Given the description of an element on the screen output the (x, y) to click on. 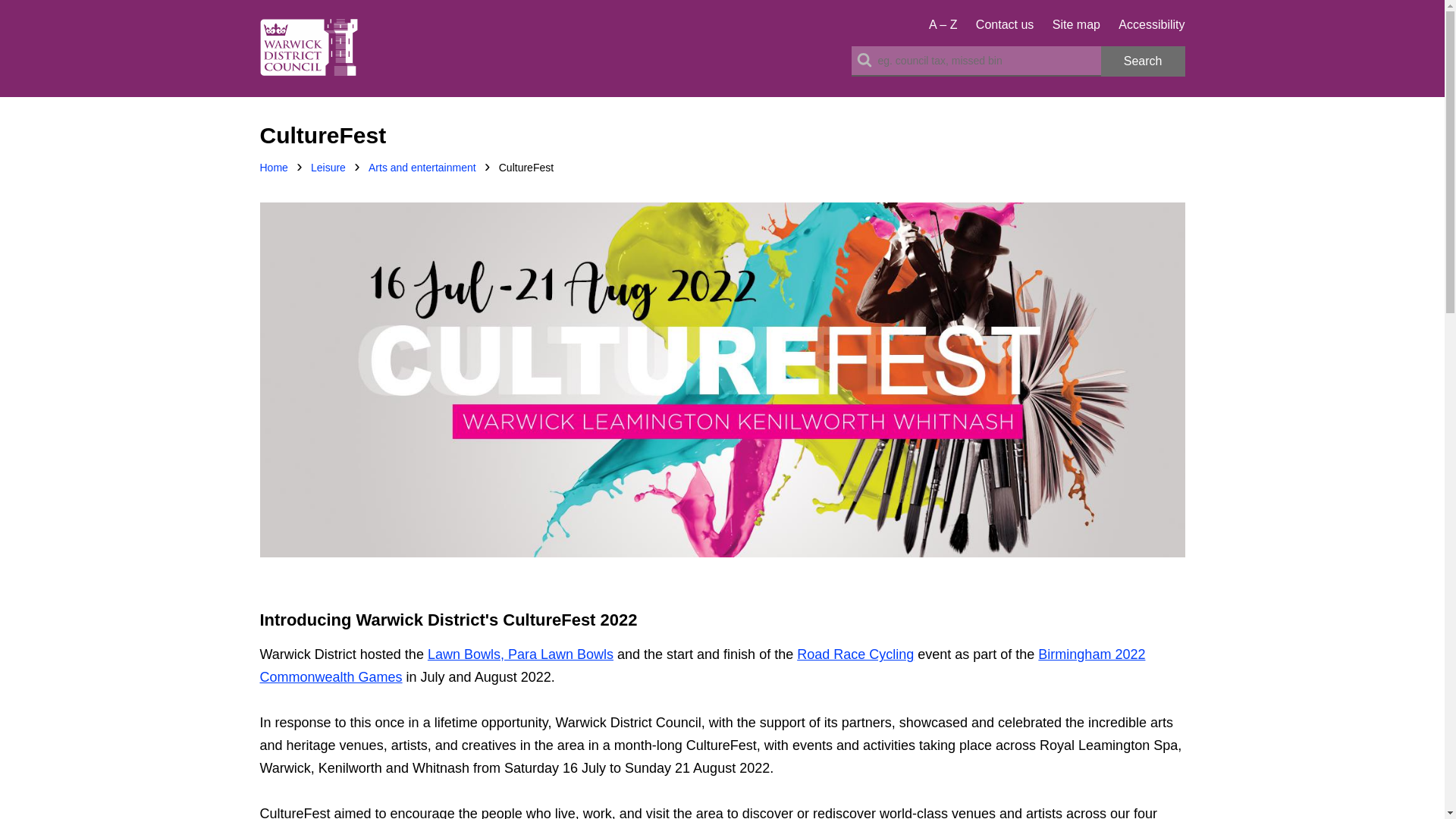
Search (1142, 60)
Contact us (1004, 24)
Accessibility (1151, 24)
Birmingham 2022 Commonwealth Games (701, 665)
Home (272, 167)
Warwick District Council. (308, 47)
Lawn Bowls, Para Lawn Bowls (520, 654)
Leisure (328, 167)
Site map (1076, 24)
Road Race Cycling (855, 654)
